Given the description of an element on the screen output the (x, y) to click on. 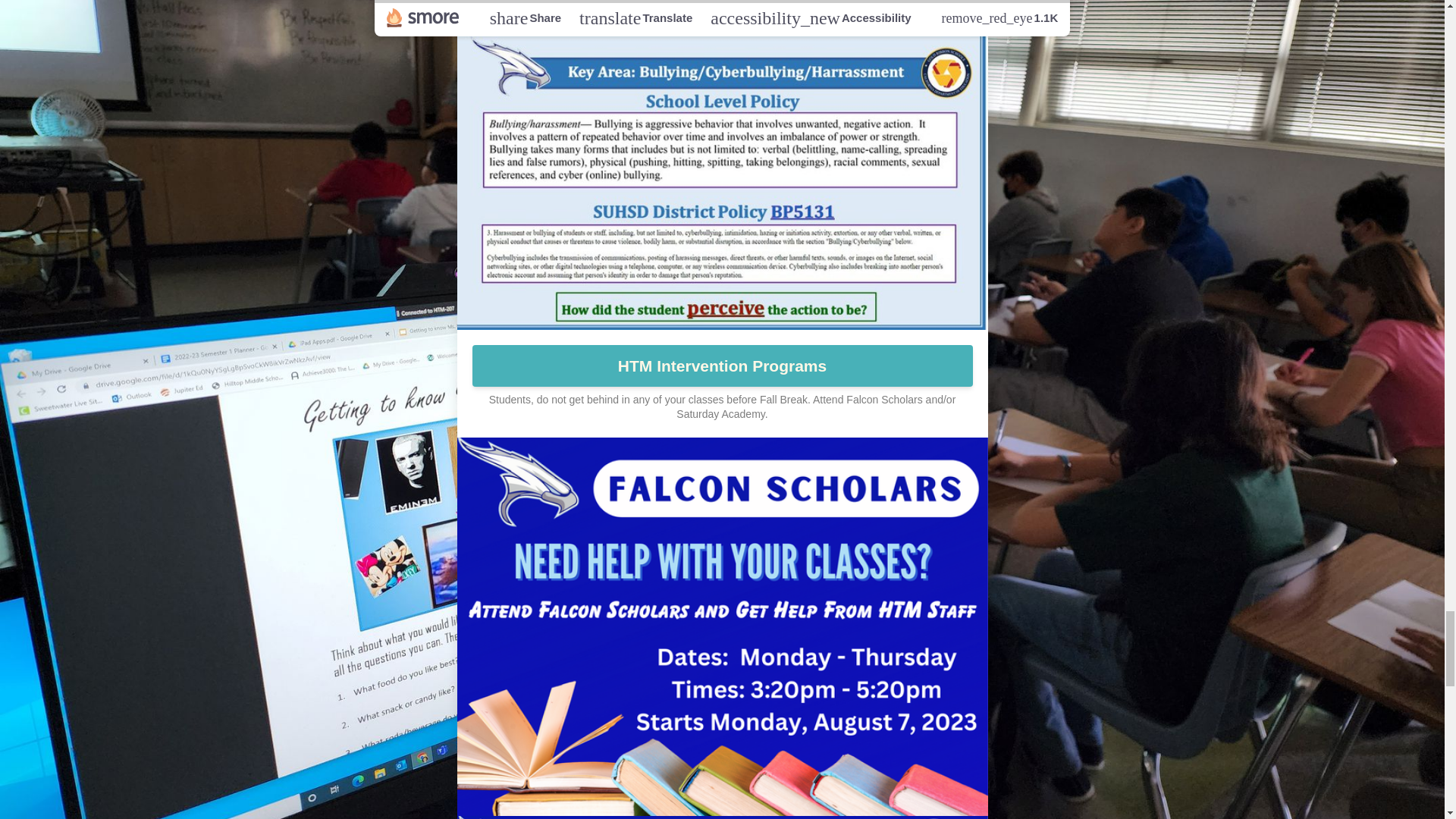
HTM Intervention Programs (721, 365)
